Given the description of an element on the screen output the (x, y) to click on. 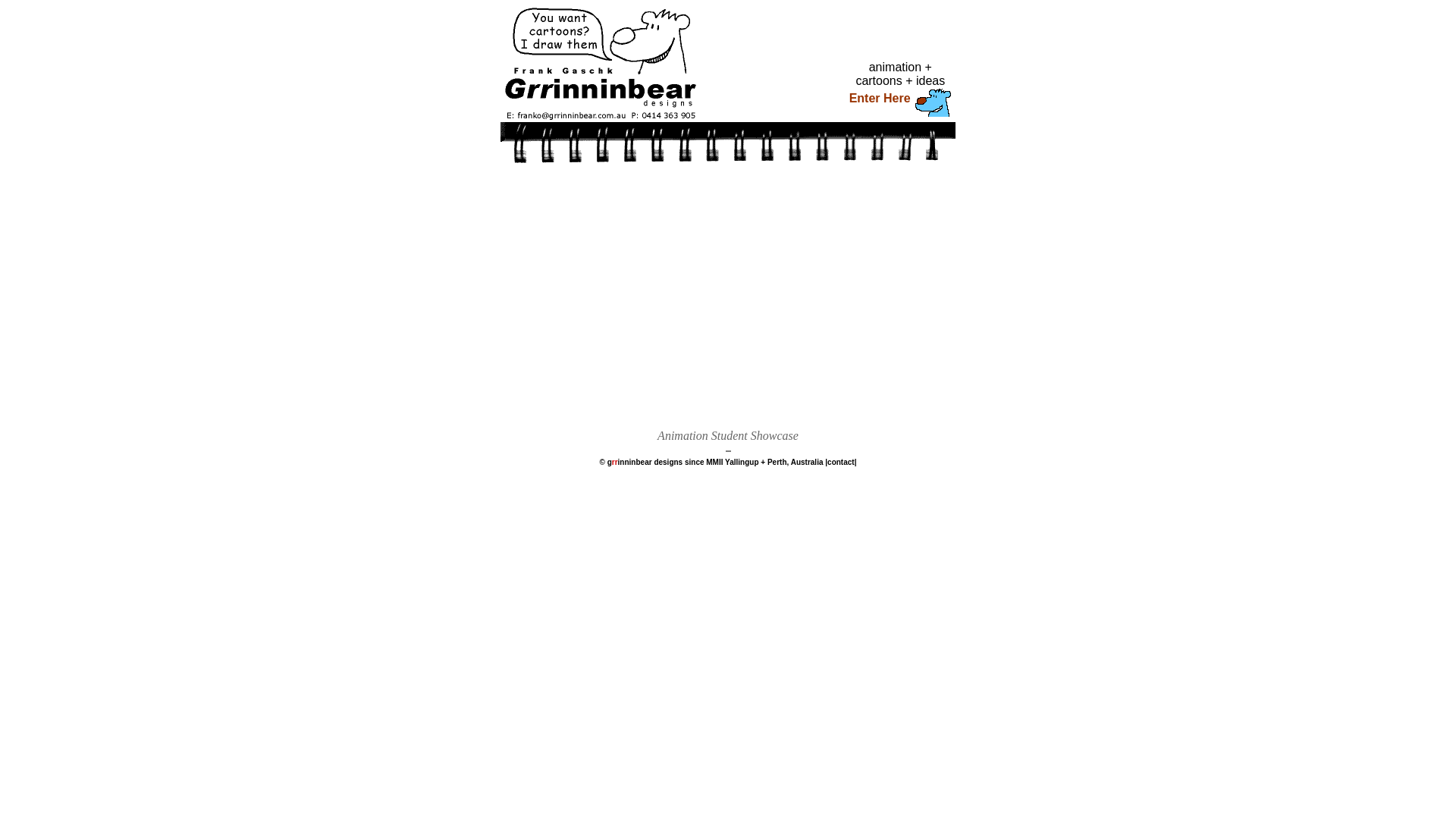
contact Element type: text (840, 462)
ideas Element type: text (930, 80)
Enter Here Element type: text (897, 106)
cartoons Element type: text (878, 80)
animation Element type: text (895, 66)
